Given the description of an element on the screen output the (x, y) to click on. 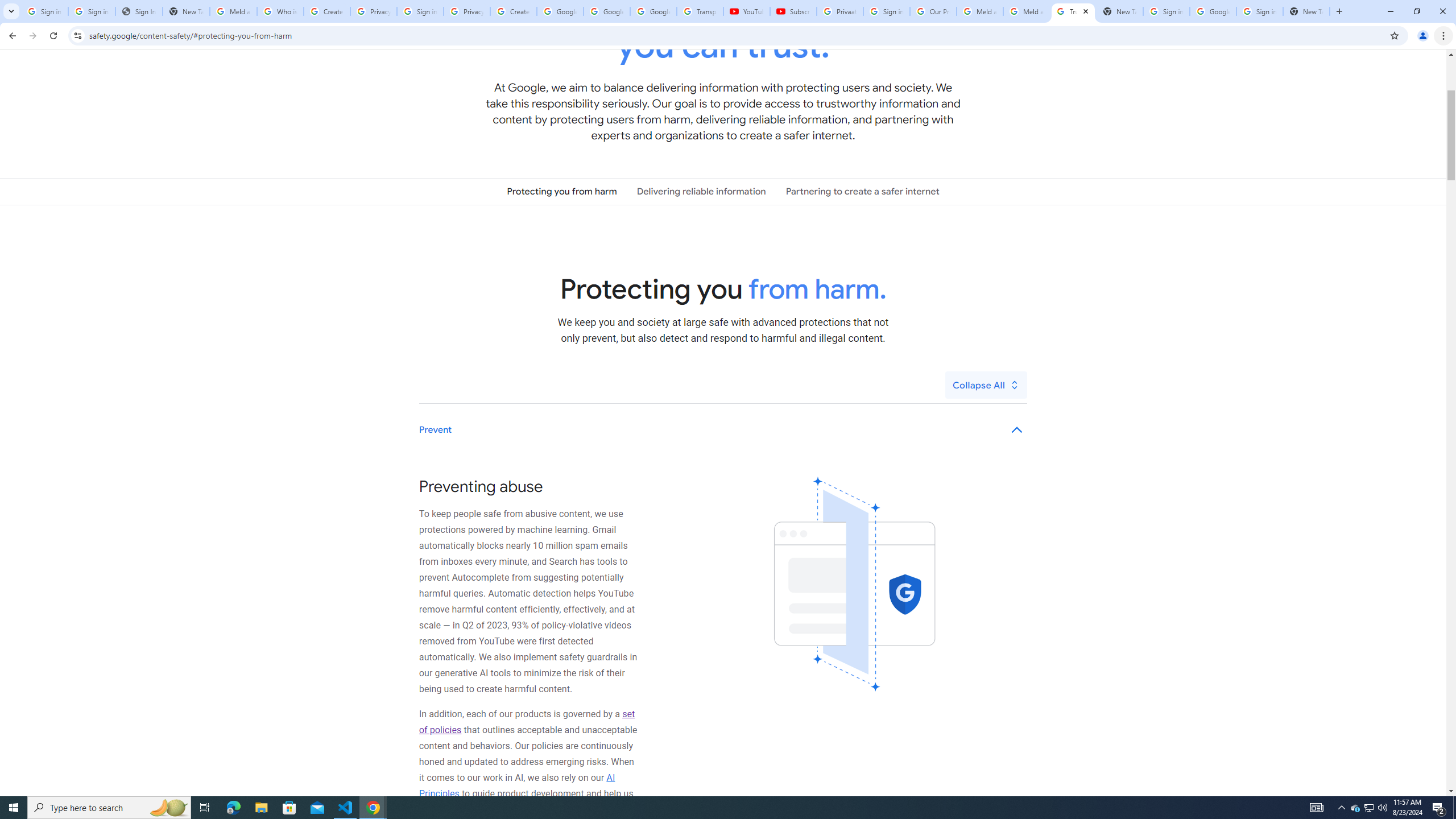
set of policies (526, 721)
Sign in - Google Accounts (1166, 11)
Create your Google Account (512, 11)
Sign in - Google Accounts (91, 11)
Create your Google Account (326, 11)
Sign in - Google Accounts (44, 11)
